Given the description of an element on the screen output the (x, y) to click on. 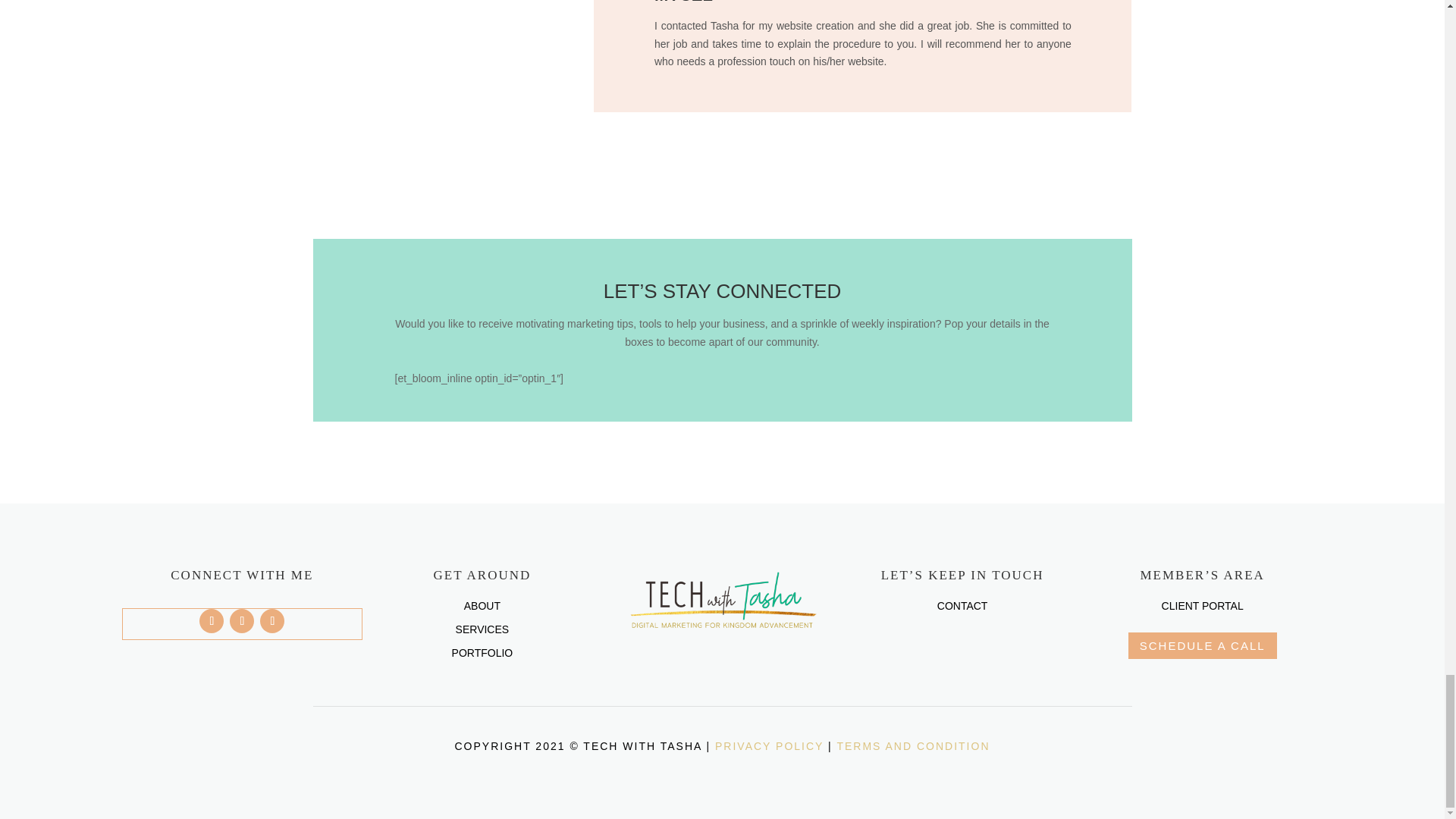
Follow on Instagram (271, 621)
Digital Marketing For Kingdom Advancement (722, 601)
TERMS AND CONDITION (912, 746)
PRIVACY POLICY (769, 746)
CONTACT (962, 605)
SCHEDULE A CALL (1202, 645)
Follow on Twitter (241, 621)
CLIENT PORTAL (1202, 605)
SERVICES (482, 629)
ABOUT (482, 605)
Follow on Facebook (211, 621)
PORTFOLIO (482, 653)
